Given the description of an element on the screen output the (x, y) to click on. 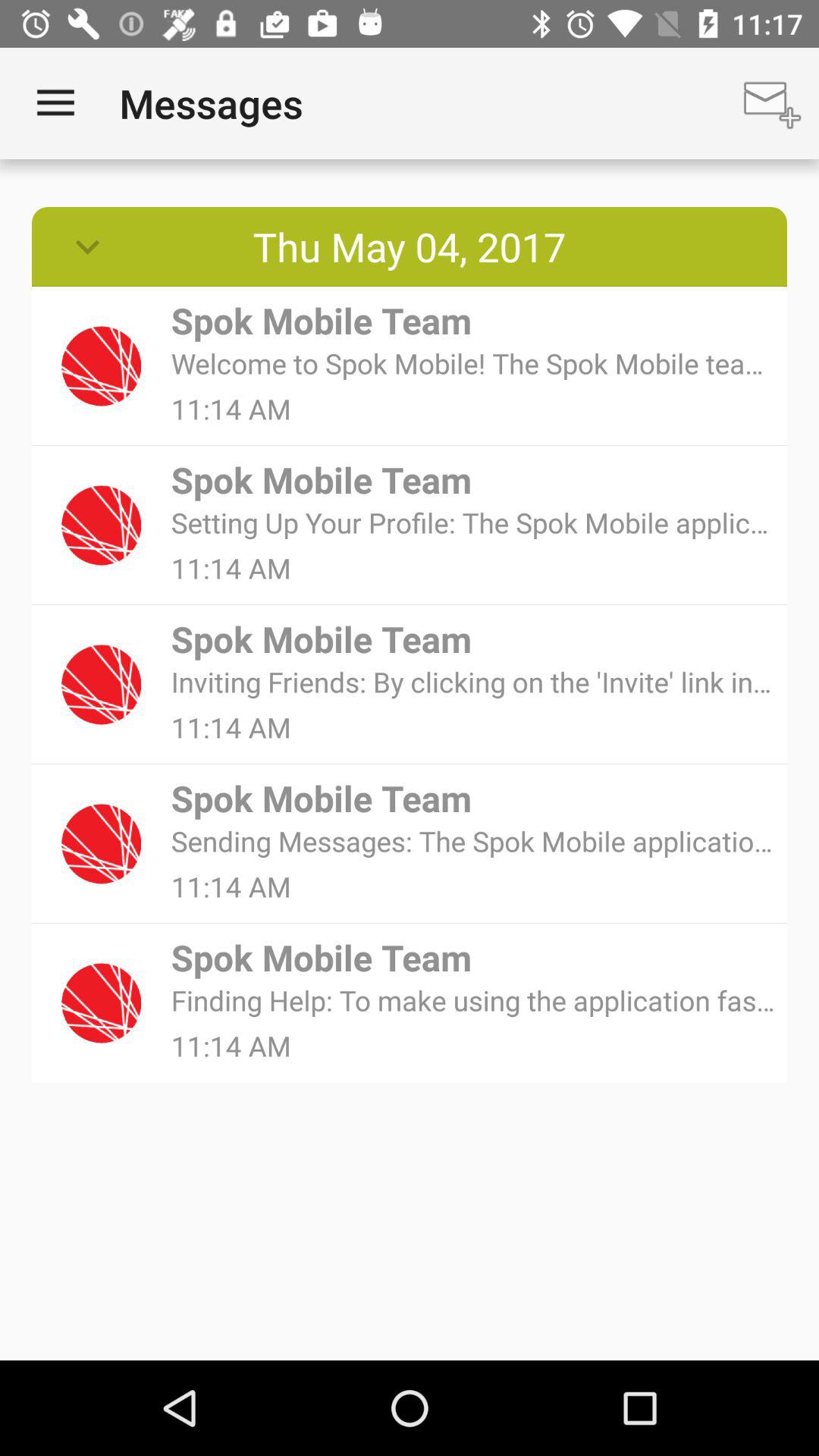
press the icon next to the messages app (771, 103)
